Given the description of an element on the screen output the (x, y) to click on. 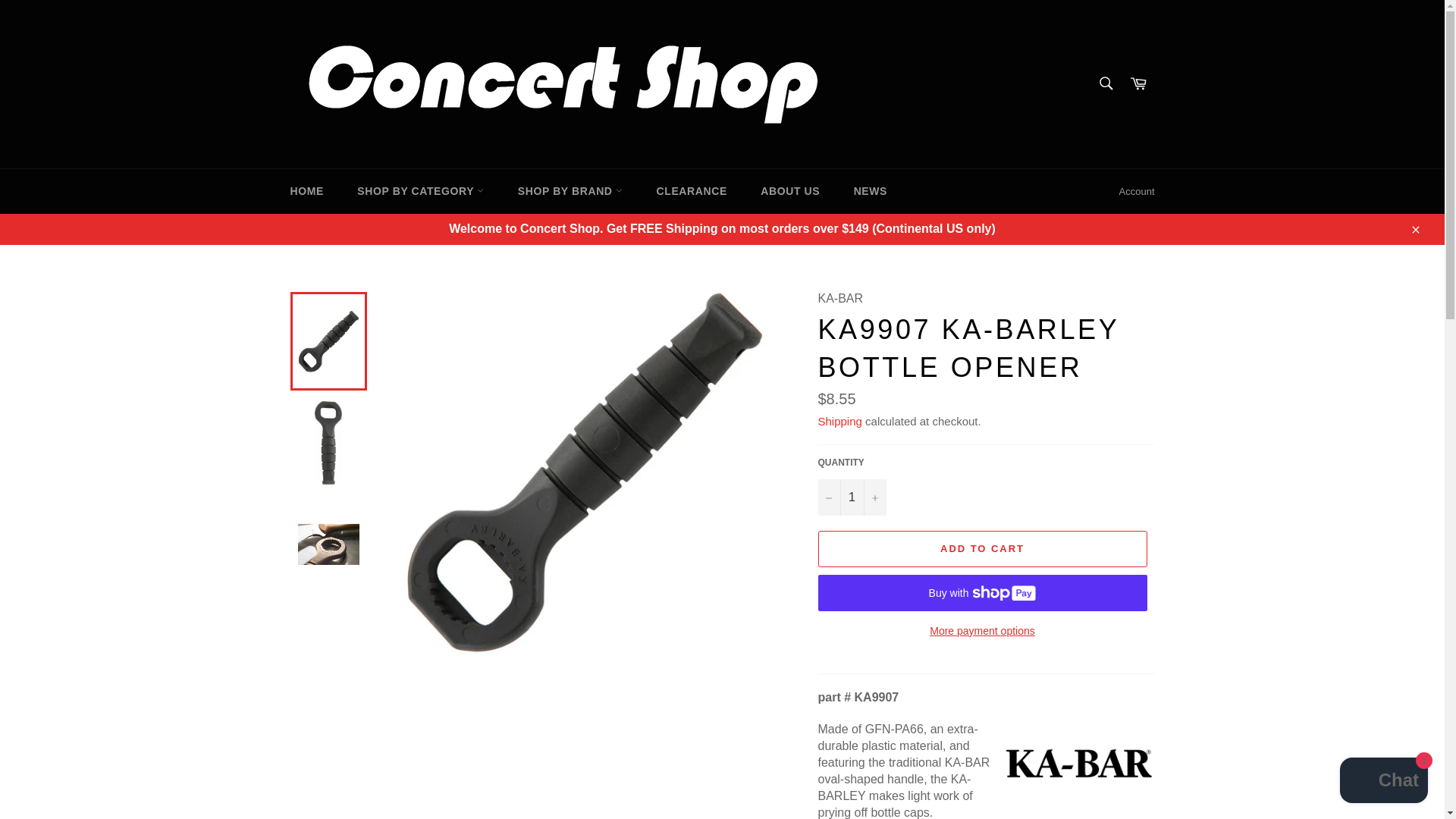
1 (850, 497)
Shopify online store chat (1383, 781)
